Given the description of an element on the screen output the (x, y) to click on. 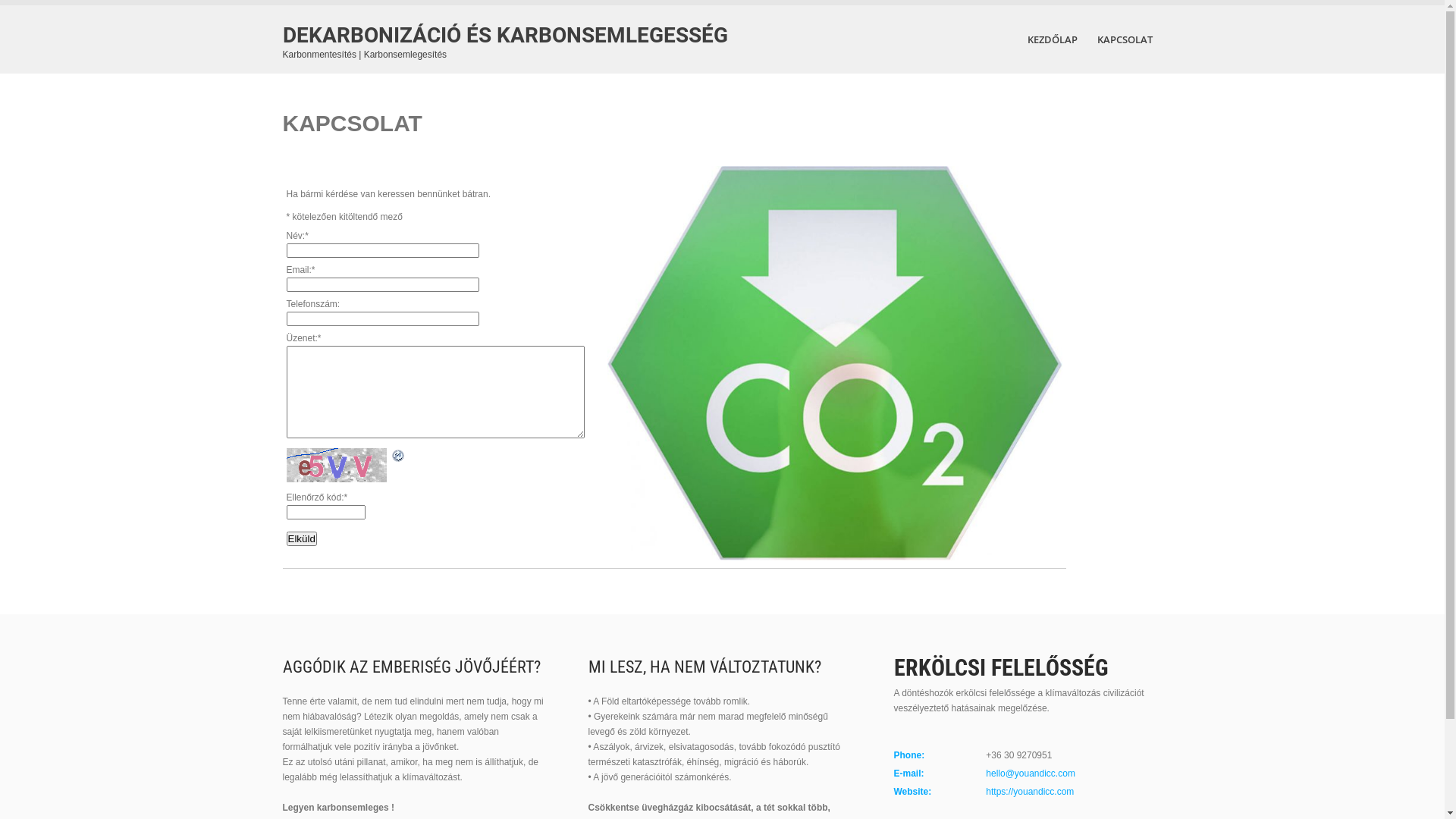
https://youandicc.com Element type: text (1029, 791)
hello@youandicc.com Element type: text (1030, 773)
CAPTCHA Element type: hover (338, 465)
KAPCSOLAT Element type: text (1124, 39)
Refresh Element type: hover (397, 455)
